Given the description of an element on the screen output the (x, y) to click on. 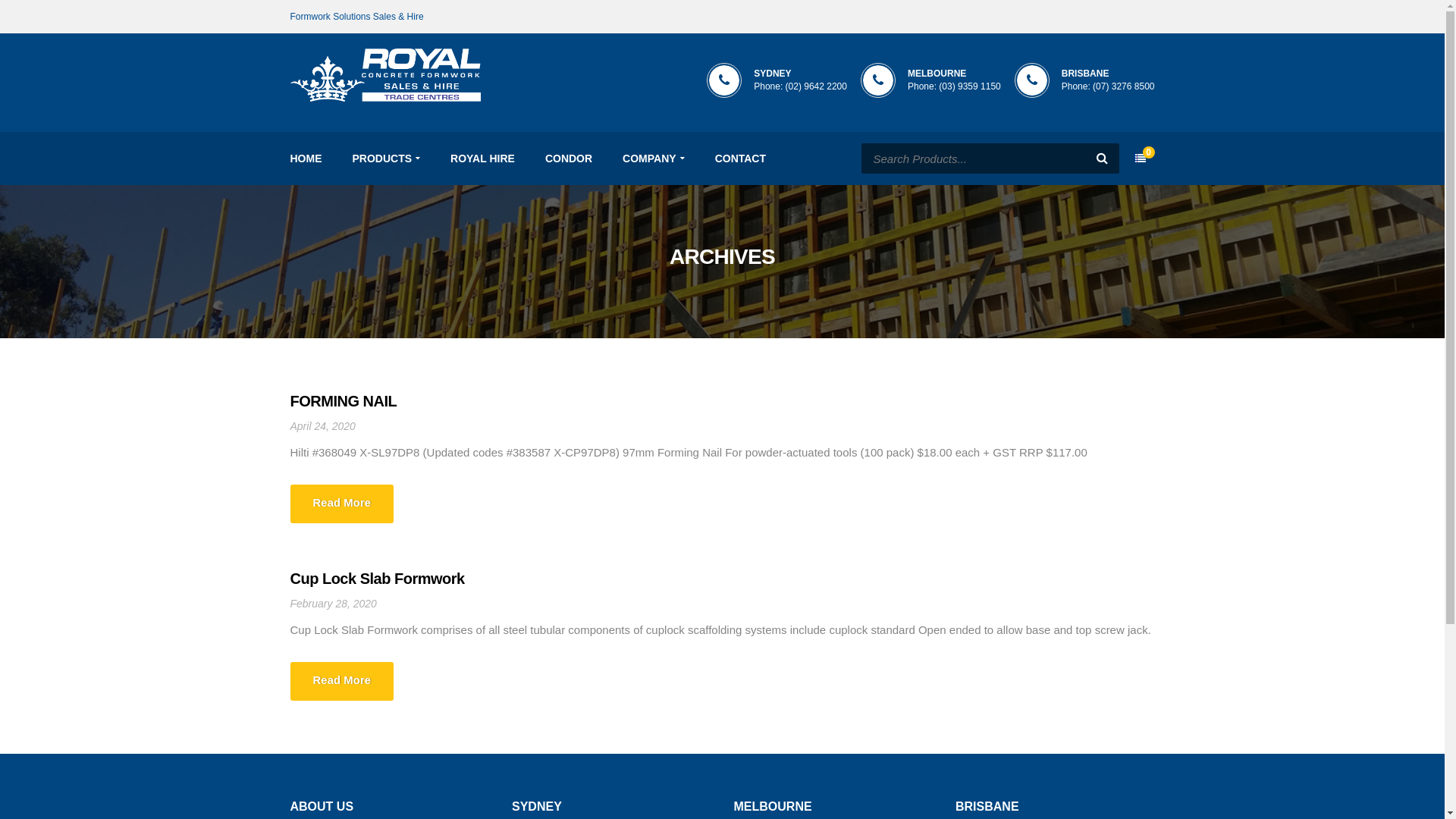
PRODUCTS Element type: text (385, 158)
FORMING NAIL Element type: text (342, 400)
Cup Lock Slab Formwork Element type: text (376, 578)
CONTACT Element type: text (740, 158)
COMPANY Element type: text (653, 158)
Read More Element type: text (341, 503)
ROYAL HIRE Element type: text (482, 158)
Read More Element type: text (341, 681)
HOME Element type: text (305, 158)
CONDOR Element type: text (568, 158)
